Given the description of an element on the screen output the (x, y) to click on. 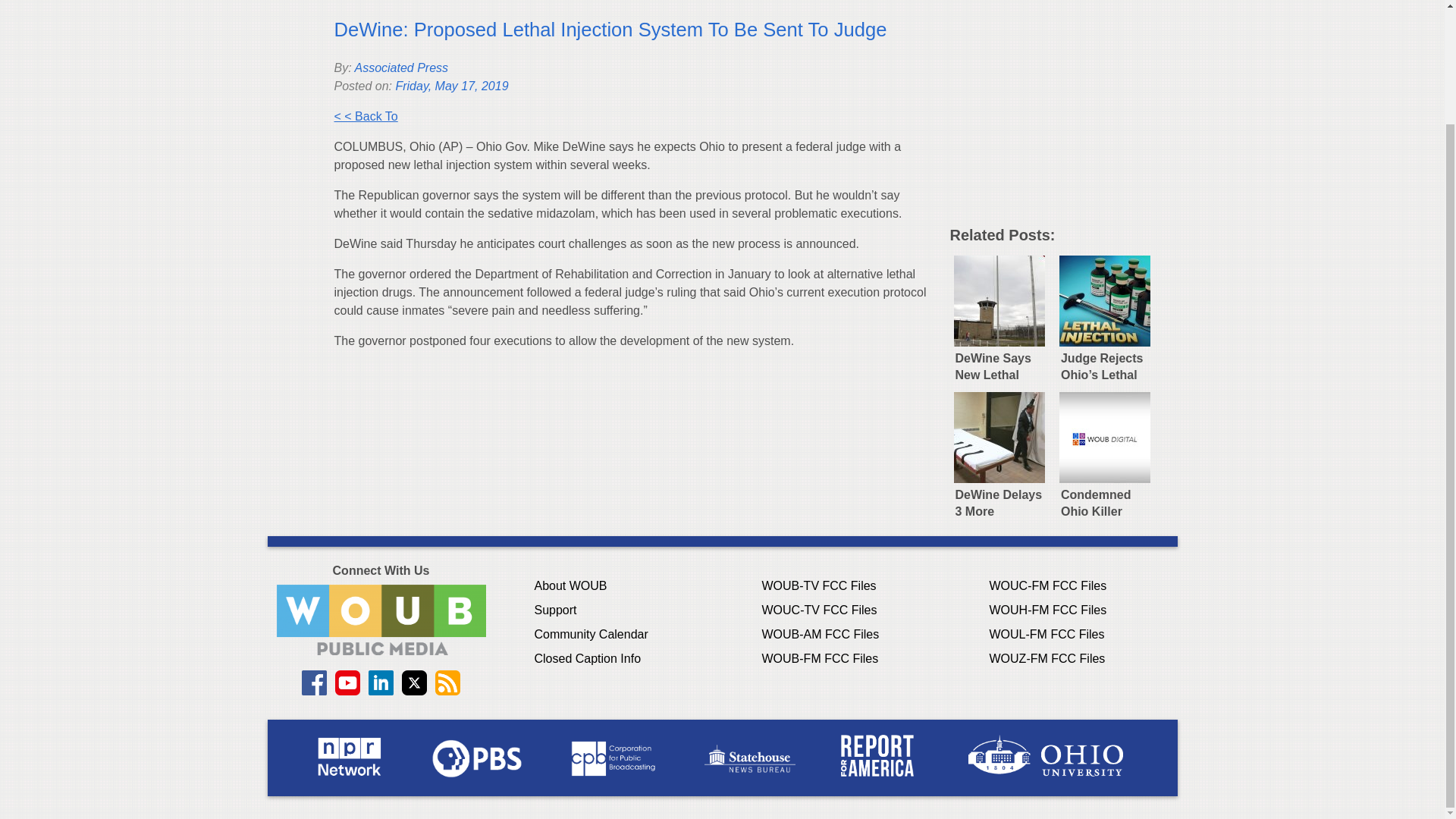
DeWine Says New Lethal Injection Protocol Coming Soon (998, 315)
Friday, May 17, 2019 (451, 85)
Associated Press (400, 67)
Condemned Ohio Killer Challenging New Lethal Injection Drug (1104, 452)
DeWine Says New Lethal Injection Protocol Coming Soon (998, 315)
Contact WOUB (380, 619)
3rd party ad content (1062, 118)
DeWine Delays 3 More Executions While Drugs Reviewed (998, 452)
